Given the description of an element on the screen output the (x, y) to click on. 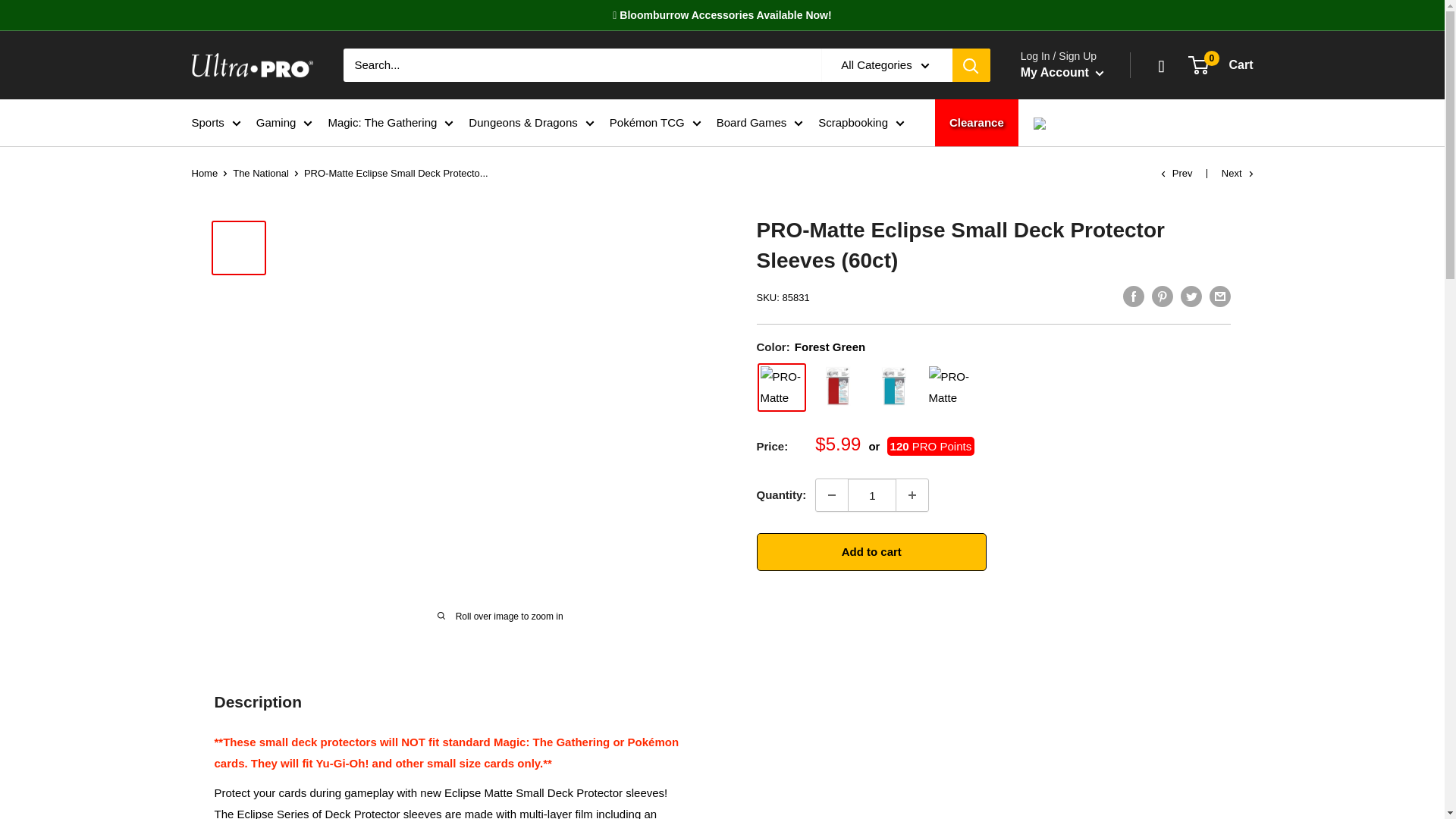
Pacific Blue (949, 387)
Apple Red (836, 387)
Increase quantity by 1 (912, 495)
1 (871, 495)
Sky Blue (893, 387)
Forest Green (781, 387)
Decrease quantity by 1 (831, 495)
